Given the description of an element on the screen output the (x, y) to click on. 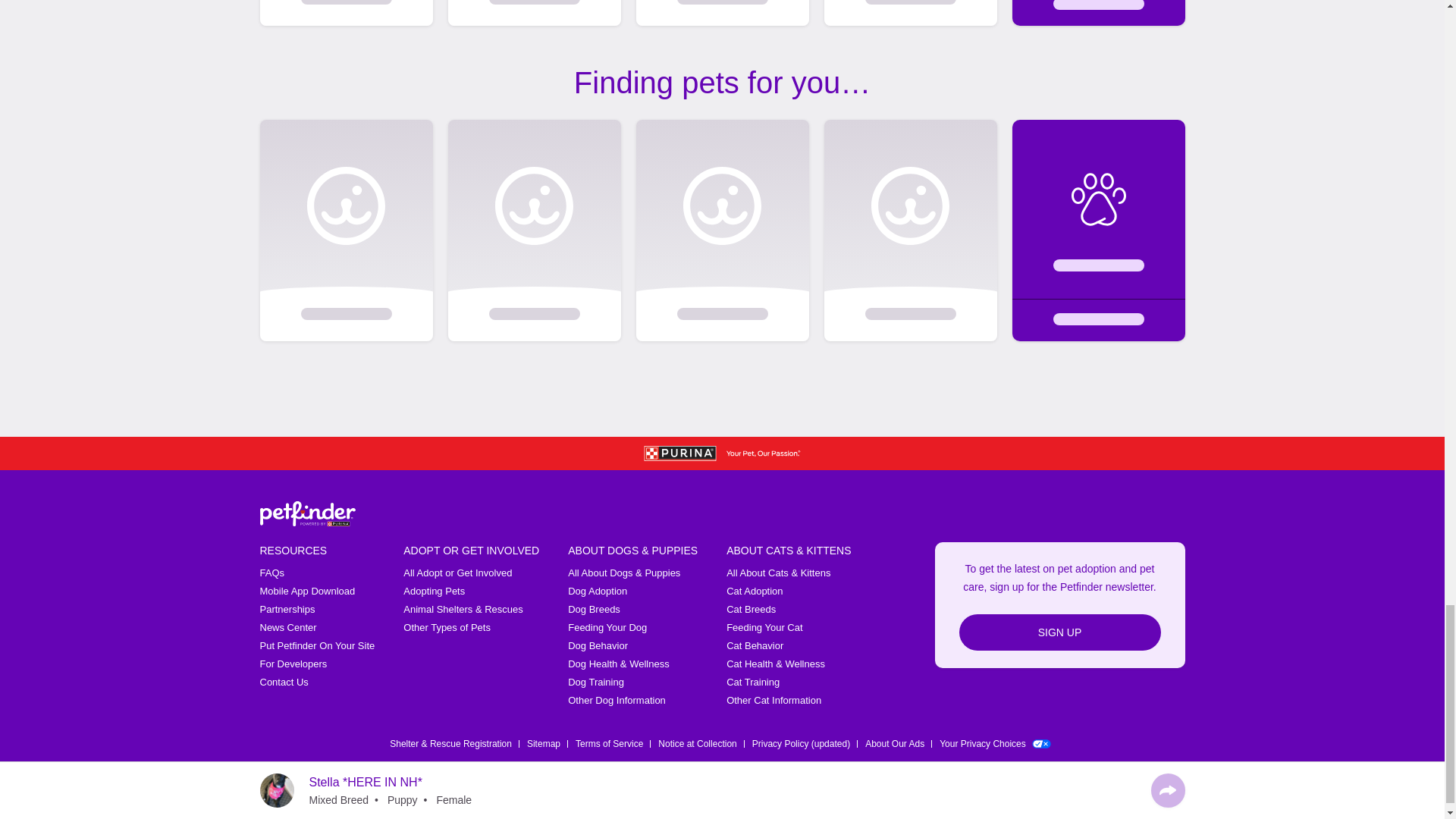
Twitter (1057, 808)
Instagram (1097, 808)
Petfinder Logo (307, 513)
Facebook (1018, 808)
YouTube (1136, 808)
Pinterest (1176, 808)
